Given the description of an element on the screen output the (x, y) to click on. 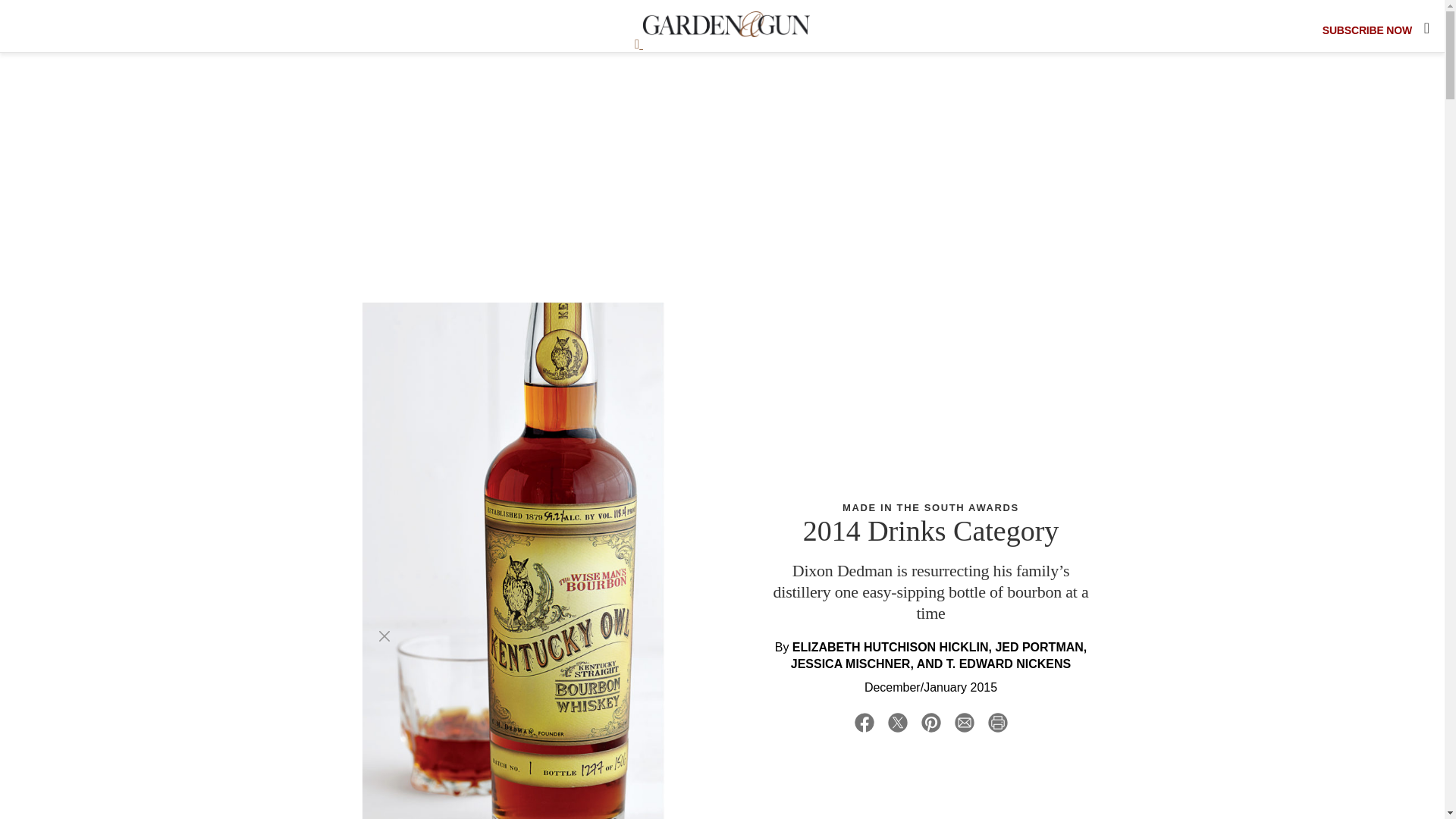
ELIZABETH HUTCHISON HICKLIN (890, 646)
SUBSCRIBE NOW (1367, 30)
Email (963, 725)
T. EDWARD NICKENS (1008, 663)
Menu (638, 43)
JED PORTMAN (1038, 646)
Share on Facebook (862, 725)
Share on X (896, 725)
Print (996, 725)
Share on Pinterest (929, 725)
Accessibility Contact Information (58, 14)
JESSICA MISCHNER (850, 663)
